Given the description of an element on the screen output the (x, y) to click on. 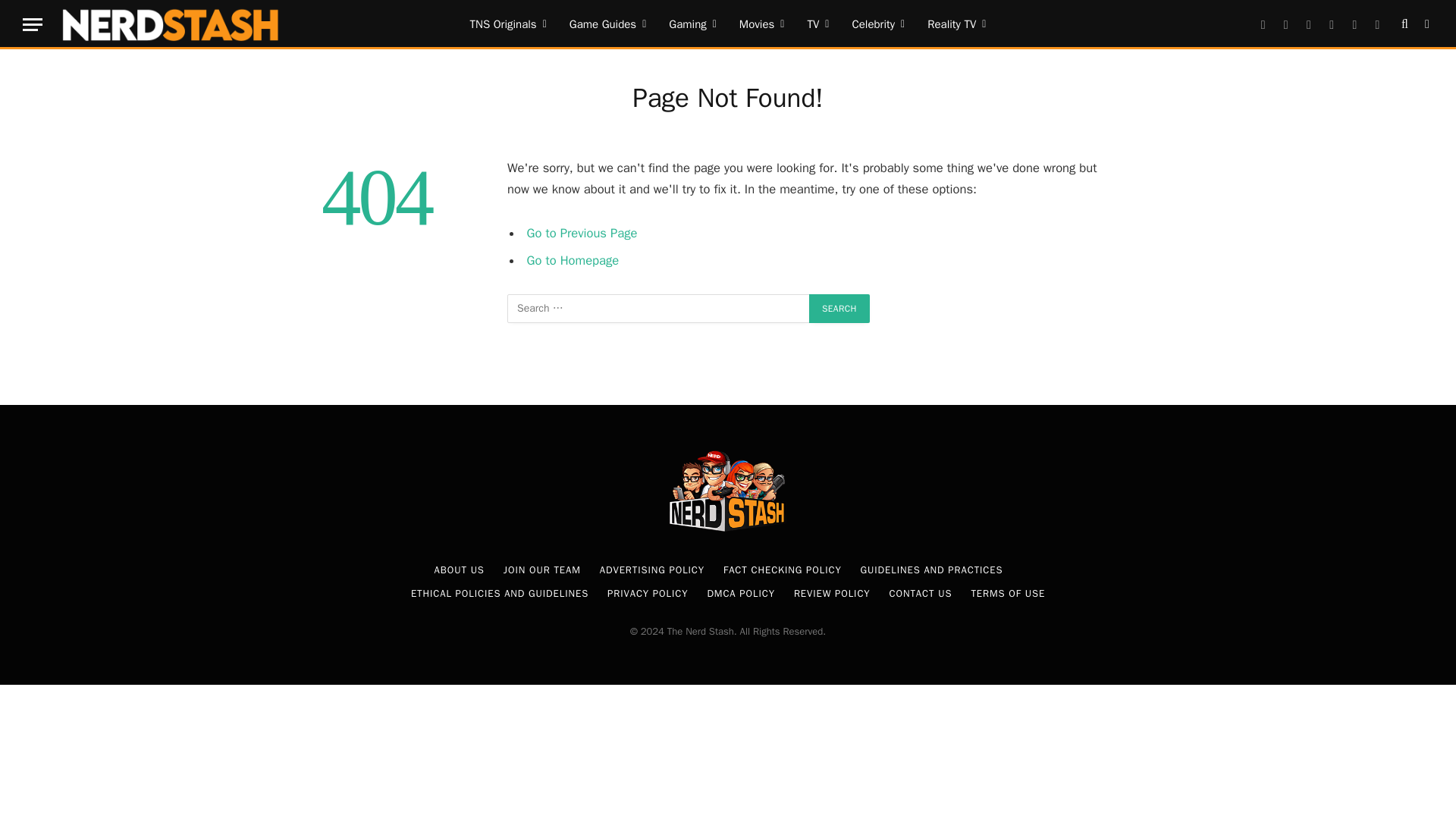
Switch to Dark Design - easier on eyes. (1425, 24)
Search (839, 308)
Search (1403, 24)
Search (839, 308)
The Nerd Stash (171, 24)
